Given the description of an element on the screen output the (x, y) to click on. 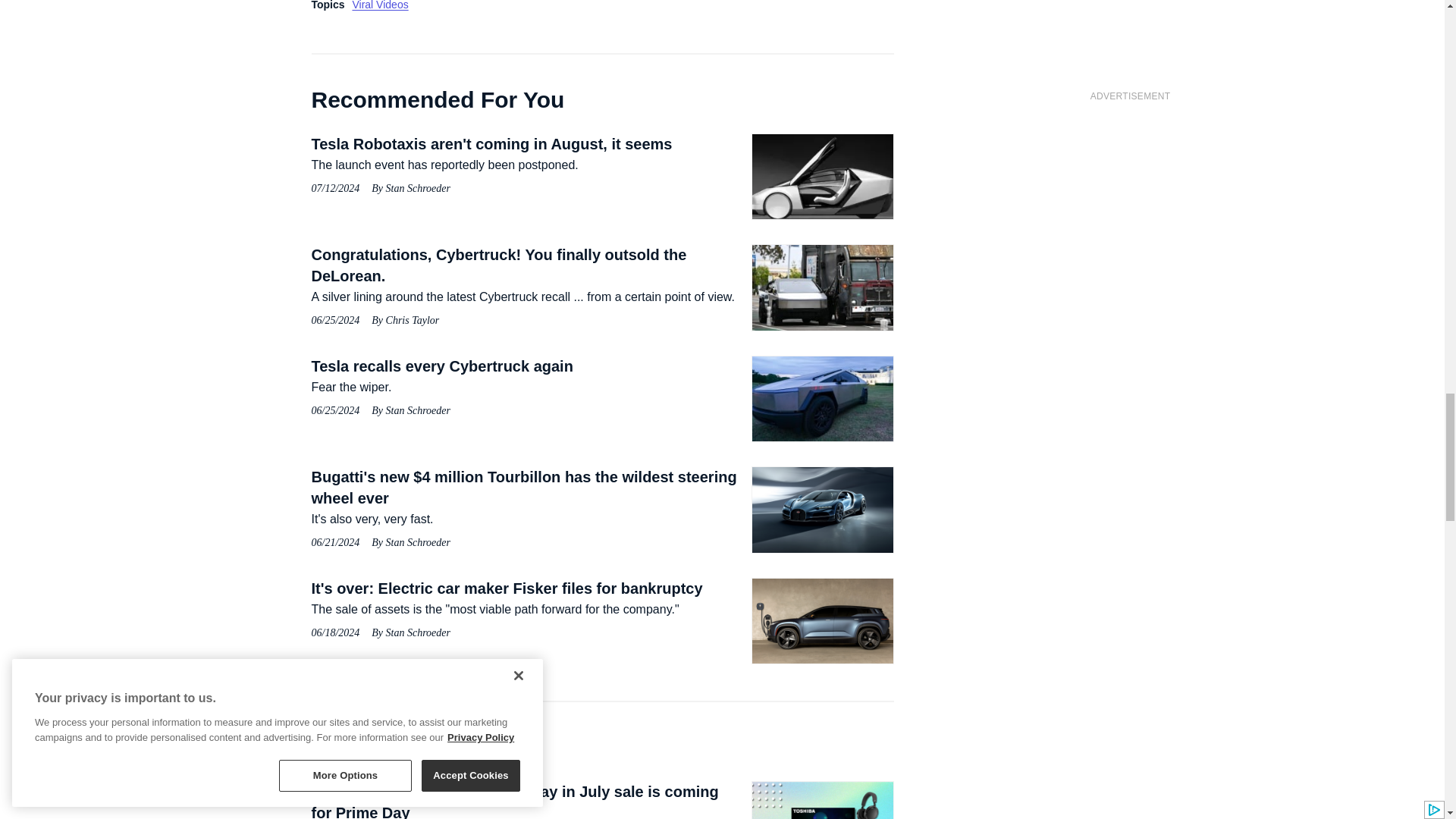
3rd party ad content (1129, 206)
